Given the description of an element on the screen output the (x, y) to click on. 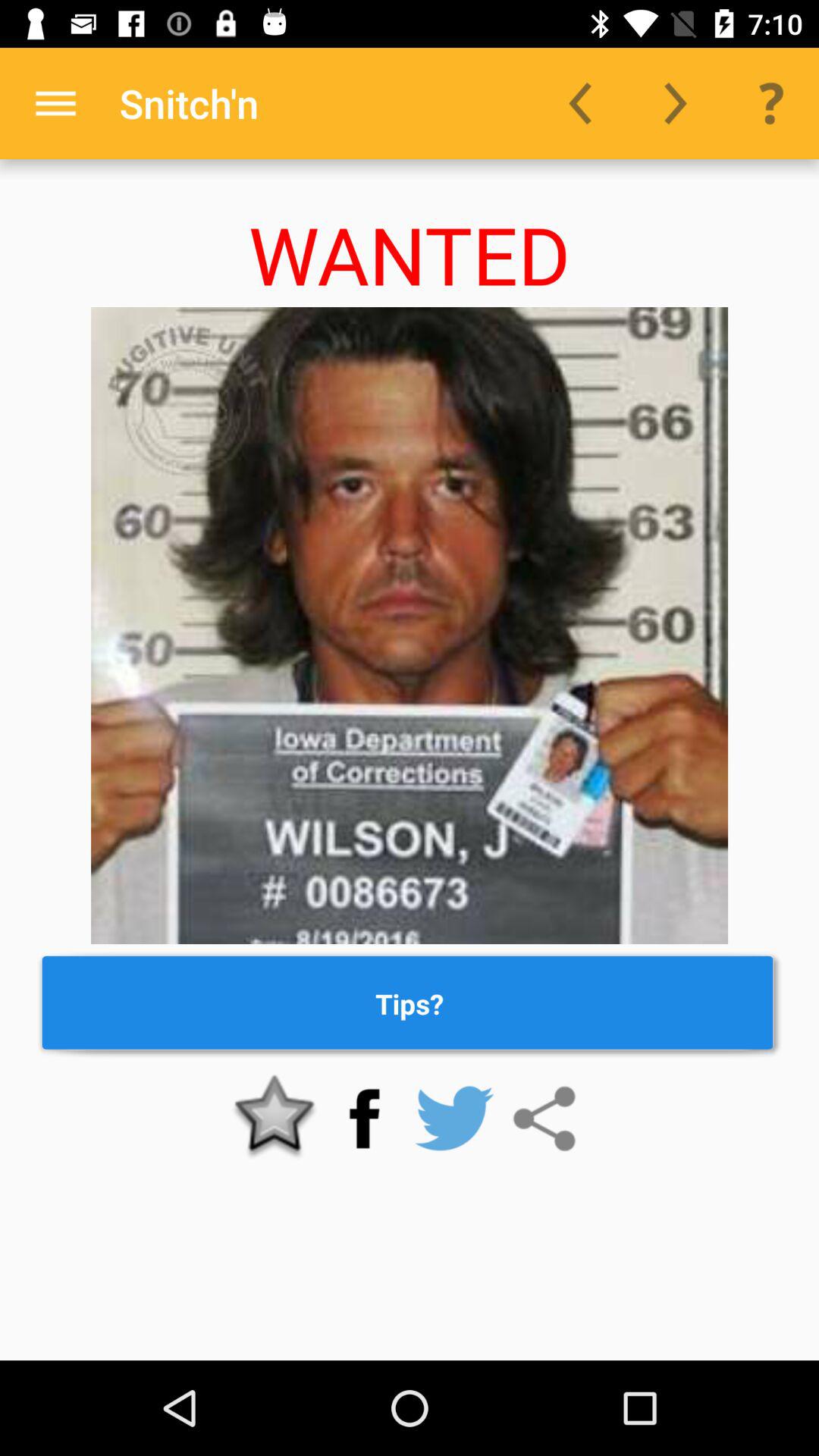
share (544, 1118)
